Given the description of an element on the screen output the (x, y) to click on. 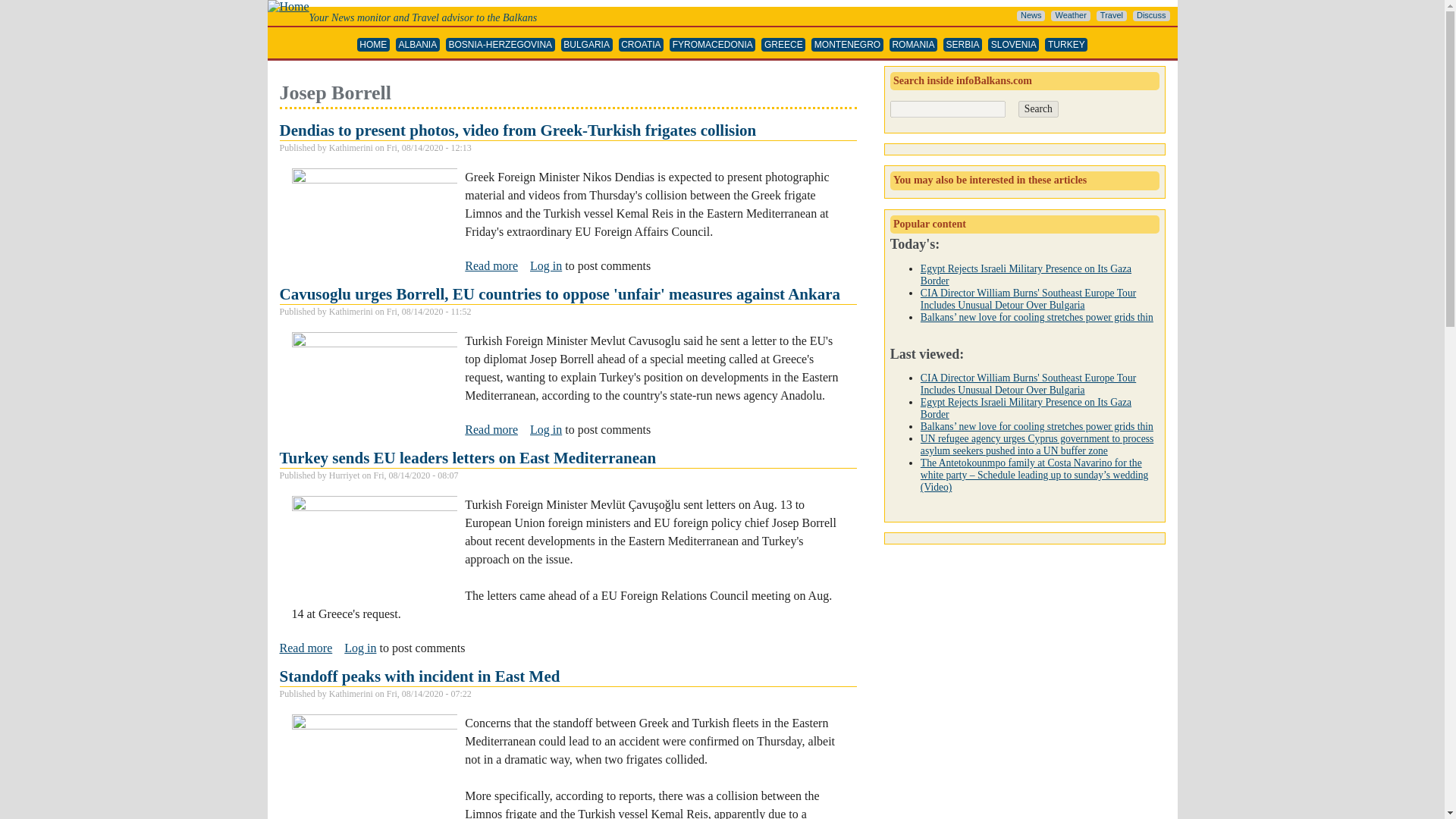
GREECE (783, 44)
News (1030, 15)
Log in (359, 647)
MONTENEGRO (846, 44)
Log in (545, 265)
TURKEY (1066, 44)
Log in (545, 429)
SLOVENIA (1013, 44)
HOME (373, 44)
